Given the description of an element on the screen output the (x, y) to click on. 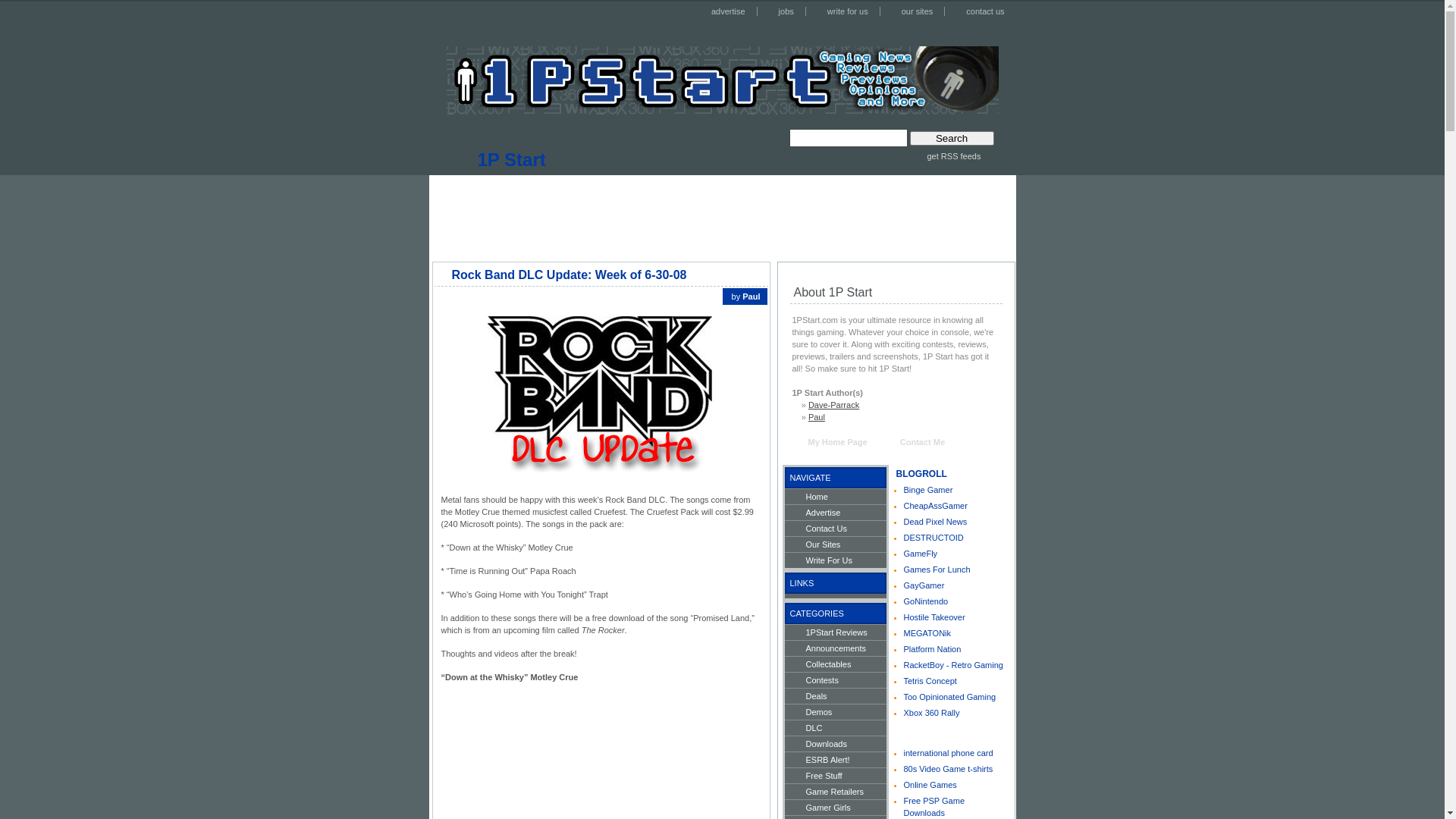
Hostile Takeover Element type: text (934, 616)
Tetris Concept Element type: text (930, 680)
RacketBoy - Retro Gaming Element type: text (953, 664)
Contact Me Element type: text (914, 443)
GayGamer Element type: text (923, 584)
DESTRUCTOID Element type: text (933, 537)
Xbox 360 Rally Element type: text (931, 712)
our sites Element type: text (913, 10)
Contests Element type: text (834, 679)
international phone card Element type: text (948, 752)
Announcements Element type: text (834, 647)
Binge Gamer Element type: text (928, 489)
Downloads Element type: text (834, 743)
CheapAssGamer Element type: text (935, 505)
Demos Element type: text (834, 711)
80s Video Game t-shirts Element type: text (948, 768)
Online Games Element type: text (930, 784)
Games For Lunch Element type: text (936, 569)
Collectables Element type: text (834, 663)
Our Sites Element type: text (834, 544)
advertise Element type: text (724, 10)
Search Element type: text (952, 137)
Game Retailers Element type: text (834, 791)
DLC Element type: text (834, 727)
1PStart Reviews Element type: text (834, 632)
Contact Us Element type: text (834, 528)
MEGATONik Element type: text (927, 632)
Advertise Element type: text (834, 512)
Paul Element type: text (816, 416)
Deals Element type: text (834, 695)
GoNintendo Element type: text (925, 600)
write for us Element type: text (844, 10)
ESRB Alert! Element type: text (834, 759)
Home Element type: text (834, 496)
get RSS feeds Element type: text (945, 155)
Free PSP Game Downloads Element type: text (934, 806)
Platform Nation Element type: text (932, 648)
contact us Element type: text (981, 10)
Free Stuff Element type: text (834, 775)
Write For Us Element type: text (834, 559)
Dave-Parrack Element type: text (833, 404)
My Home Page Element type: text (831, 443)
jobs Element type: text (782, 10)
Too Opinionated Gaming Element type: text (949, 696)
Dead Pixel News Element type: text (935, 521)
Rock Band DLC Update: Week of 6-30-08 Element type: text (569, 274)
Gamer Girls Element type: text (834, 807)
GameFly Element type: text (920, 553)
